Given the description of an element on the screen output the (x, y) to click on. 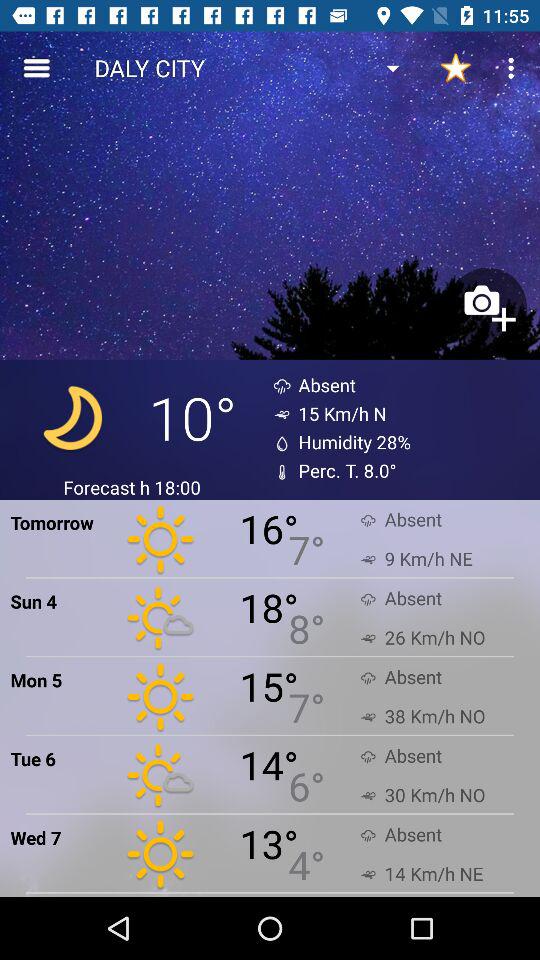
allows you to add photo (487, 306)
